Given the description of an element on the screen output the (x, y) to click on. 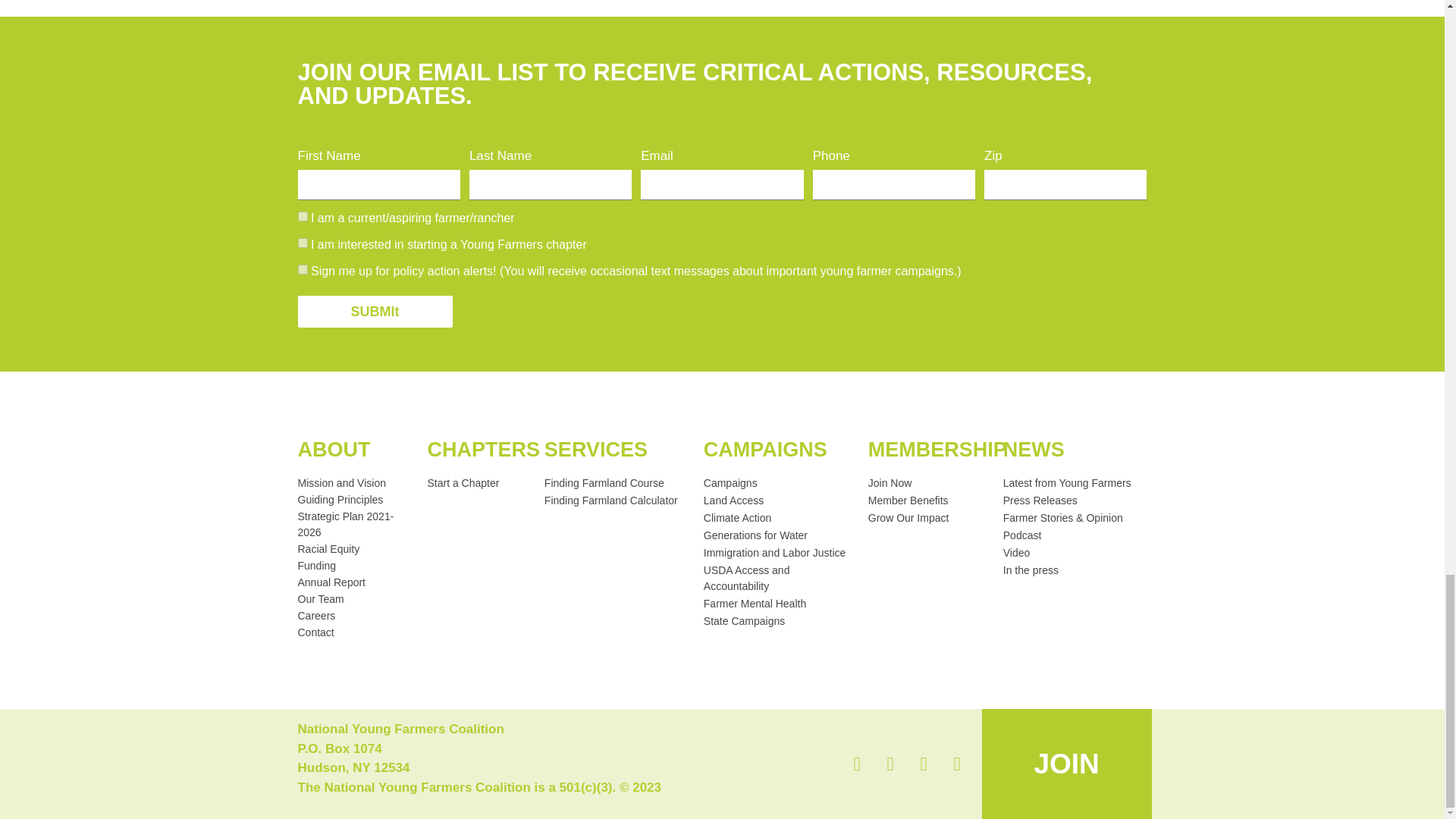
Annual Report (354, 582)
Mission and Vision (354, 483)
Contact (354, 632)
ABOUT (333, 449)
Racial Equity (354, 549)
I am interested in starting a Young Farmers chapter (302, 243)
Finding Farmland Course (616, 483)
SUBMIt (374, 311)
Funding (354, 565)
Strategic Plan 2021-2026 (354, 524)
